Given the description of an element on the screen output the (x, y) to click on. 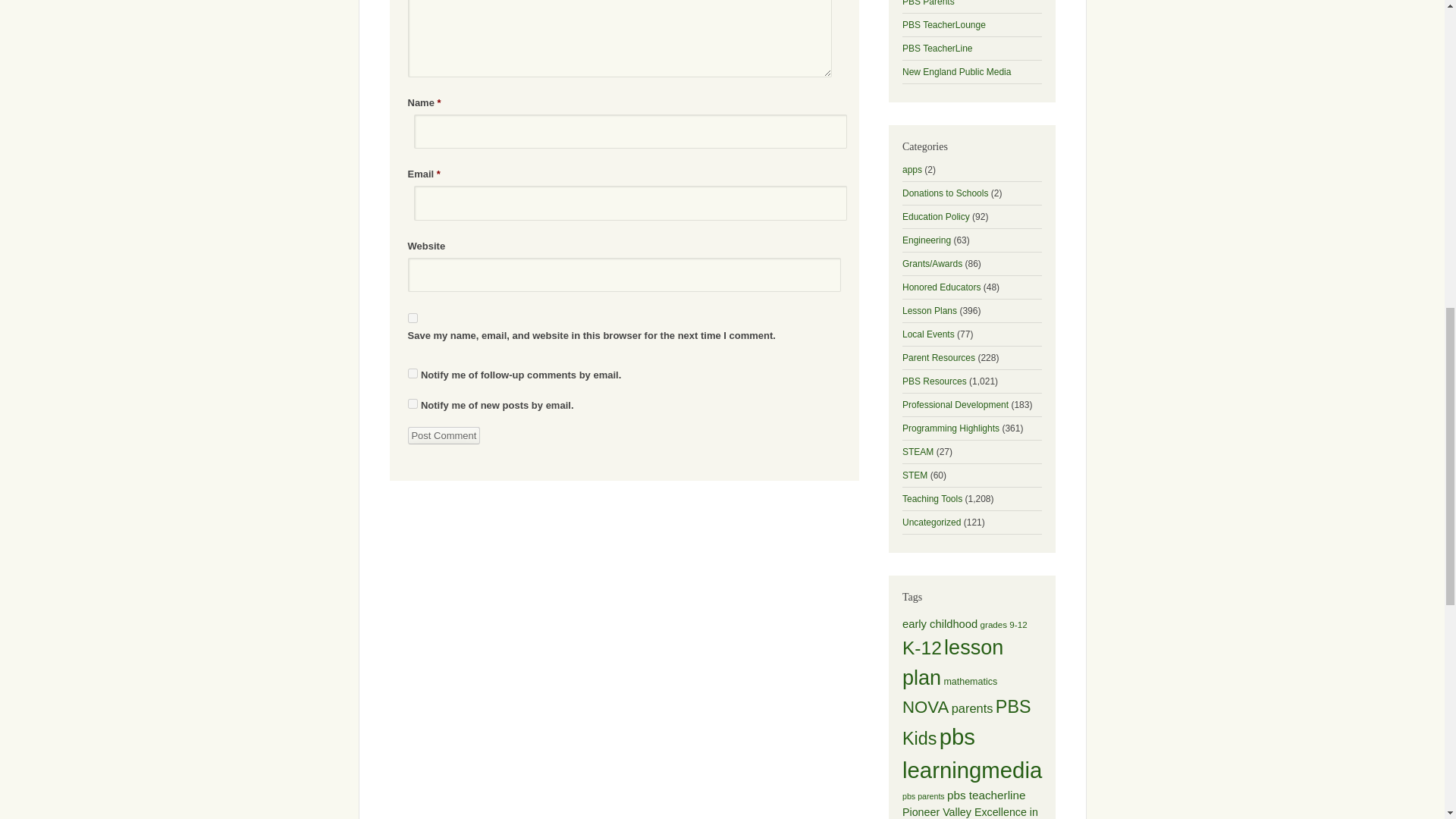
PBS TeacherLine (937, 48)
Donations to Schools (945, 193)
yes (412, 317)
Post Comment (443, 435)
Education Policy (935, 216)
New England Public Media (956, 71)
Post Comment (443, 435)
PBS TeacherLounge (943, 24)
PBS Parents (928, 3)
subscribe (412, 403)
